Given the description of an element on the screen output the (x, y) to click on. 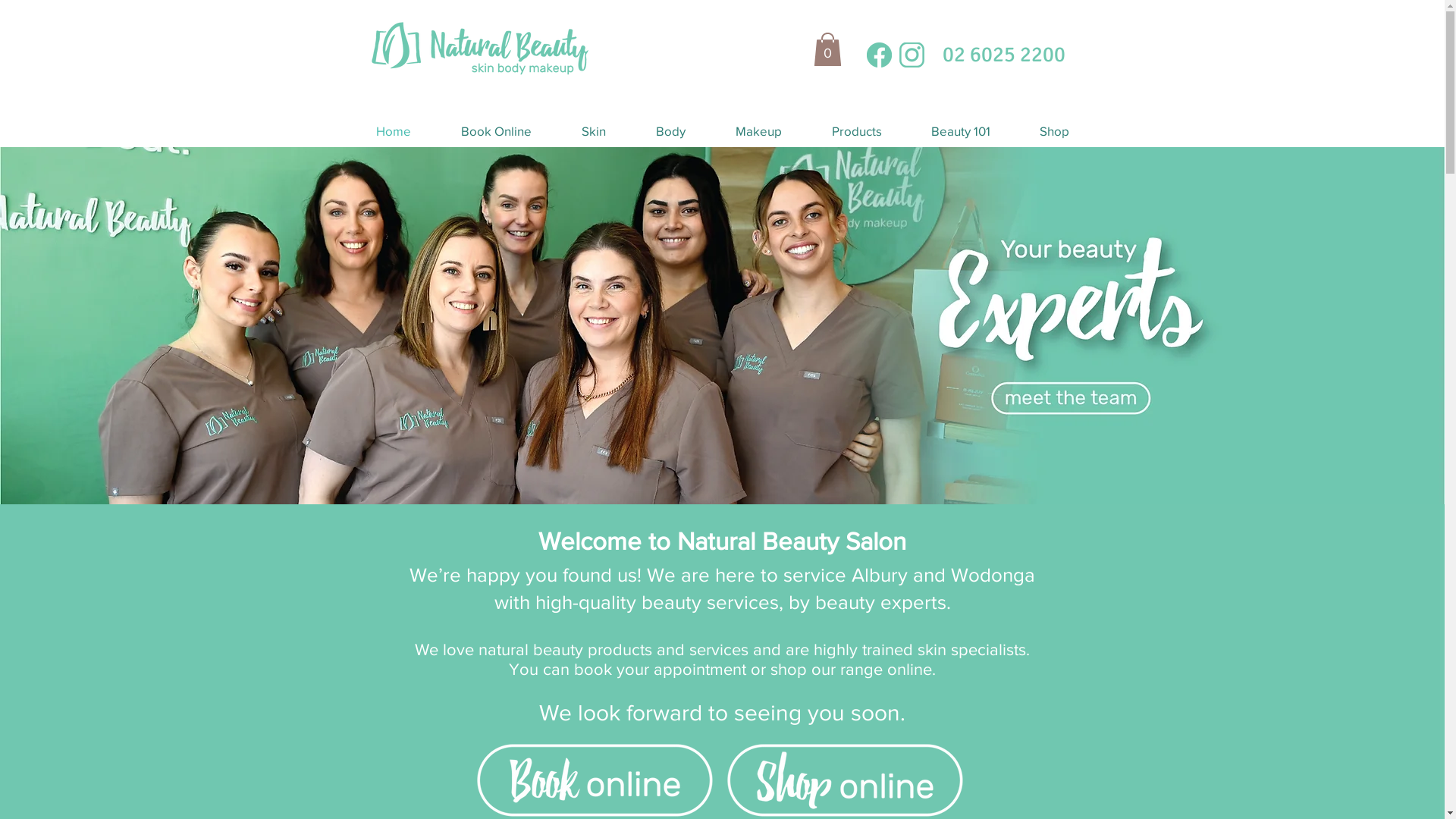
0 Element type: text (826, 48)
Shop Element type: text (1053, 131)
Book Online Element type: text (495, 131)
Natural Beauty Skin Clinic Logo Element type: hover (479, 46)
Home Element type: text (392, 131)
Beauty 101 Element type: text (960, 131)
